Given the description of an element on the screen output the (x, y) to click on. 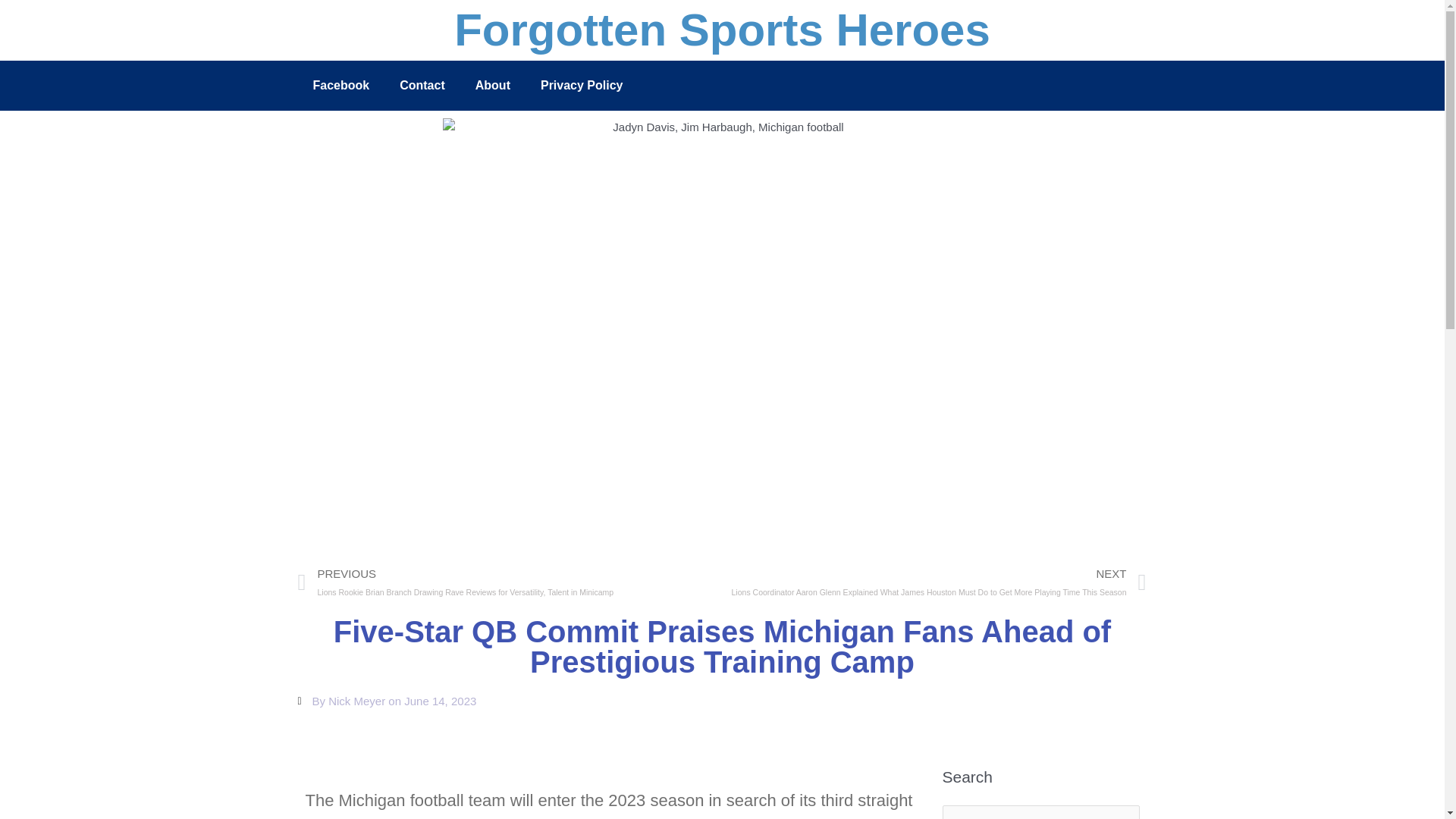
Contact (422, 85)
Facebook (340, 85)
By Nick Meyer (341, 701)
Privacy Policy (582, 85)
Search (1122, 812)
Search (1122, 812)
Search (1122, 812)
About (492, 85)
June 14, 2023 (440, 701)
Forgotten Sports Heroes (722, 29)
